Given the description of an element on the screen output the (x, y) to click on. 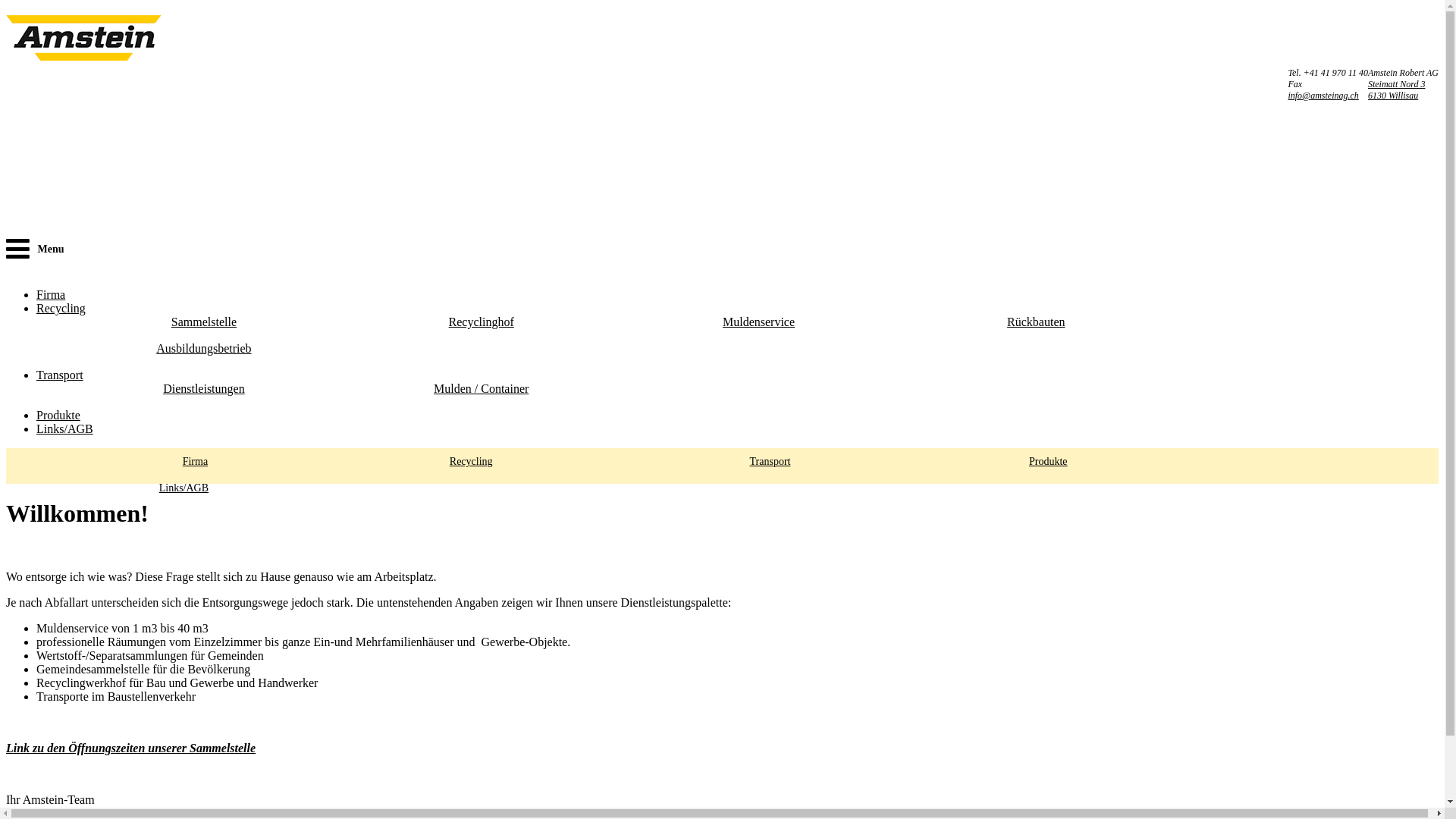
Recyclinghof Element type: text (481, 321)
Dienstleistungen Element type: text (203, 388)
Produkte Element type: text (1029, 460)
Transport Element type: text (59, 374)
Produkte Element type: text (58, 414)
Firma Element type: text (50, 294)
Recycling Element type: text (449, 460)
Steimatt Nord 3
6130 Willisau Element type: text (1396, 89)
Firma Element type: text (160, 460)
Links/AGB Element type: text (64, 428)
Transport Element type: text (739, 460)
info@amsteinag.ch Element type: text (1322, 95)
Muldenservice Element type: text (758, 321)
Mulden / Container Element type: text (480, 388)
   Menu Element type: text (42, 253)
Recycling Element type: text (60, 307)
Sammelstelle Element type: text (203, 321)
Ausbildungsbetrieb Element type: text (203, 348)
Links/AGB Element type: text (160, 486)
